Given the description of an element on the screen output the (x, y) to click on. 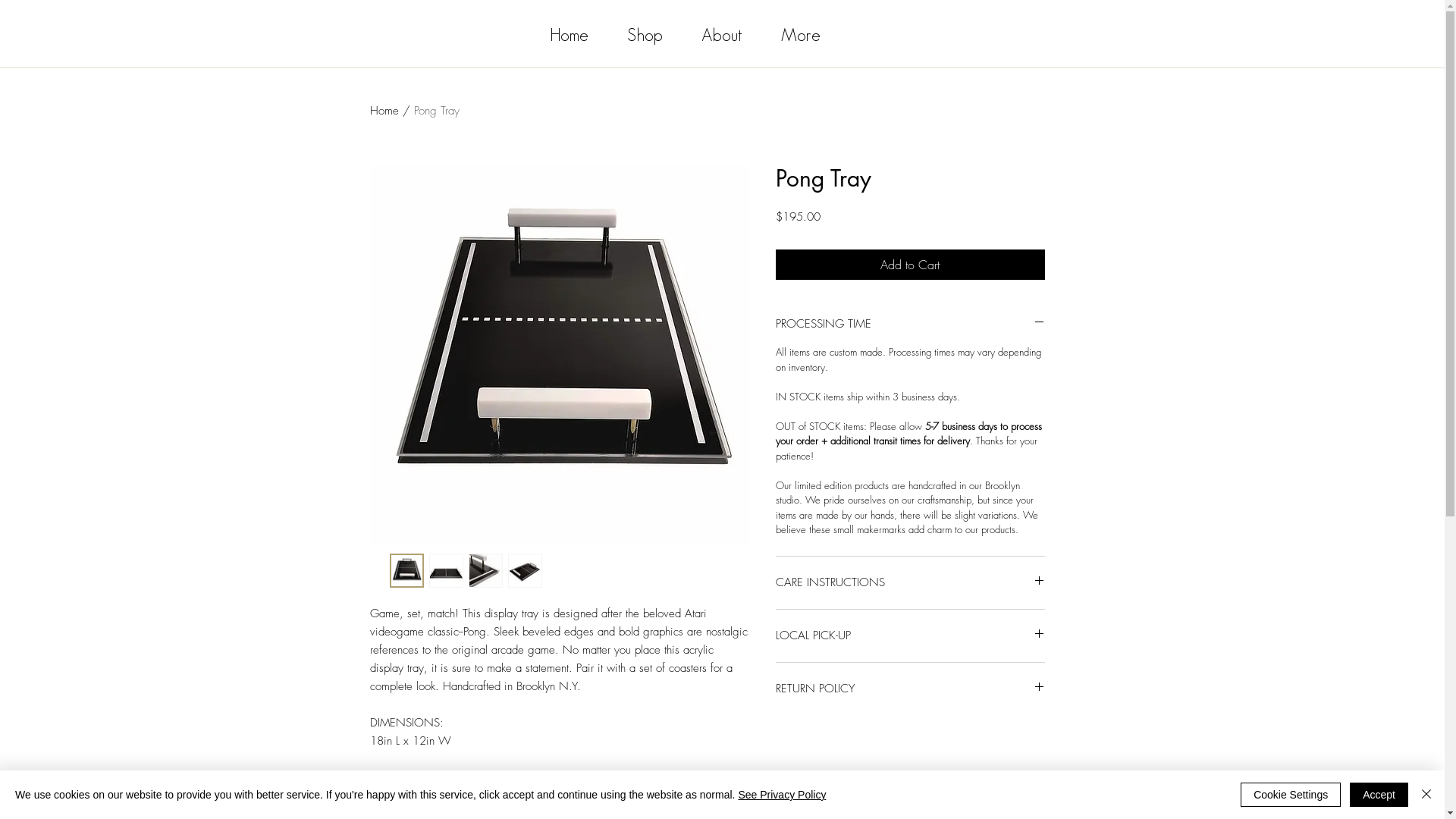
Accept Element type: text (1378, 794)
Pong Tray Element type: text (436, 110)
See Privacy Policy Element type: text (781, 794)
RETURN POLICY Element type: text (909, 688)
Cookie Settings Element type: text (1290, 794)
CARE INSTRUCTIONS Element type: text (909, 582)
Home Element type: text (576, 34)
Add to Cart Element type: text (909, 264)
LOCAL PICK-UP Element type: text (909, 635)
Shop Element type: text (652, 34)
About Element type: text (729, 34)
Home Element type: text (384, 110)
PROCESSING TIME Element type: text (909, 324)
